Given the description of an element on the screen output the (x, y) to click on. 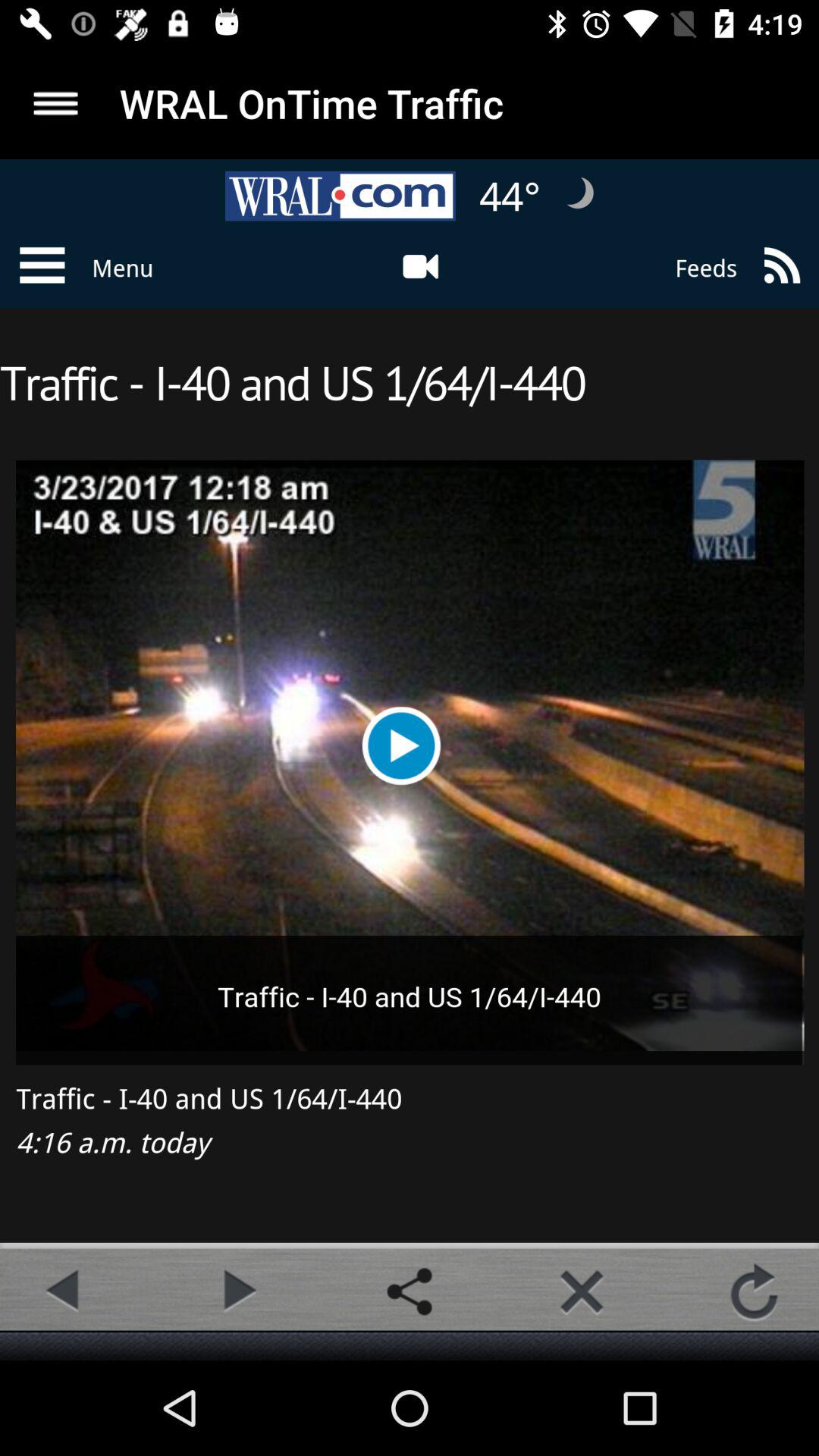
share button (409, 1291)
